Given the description of an element on the screen output the (x, y) to click on. 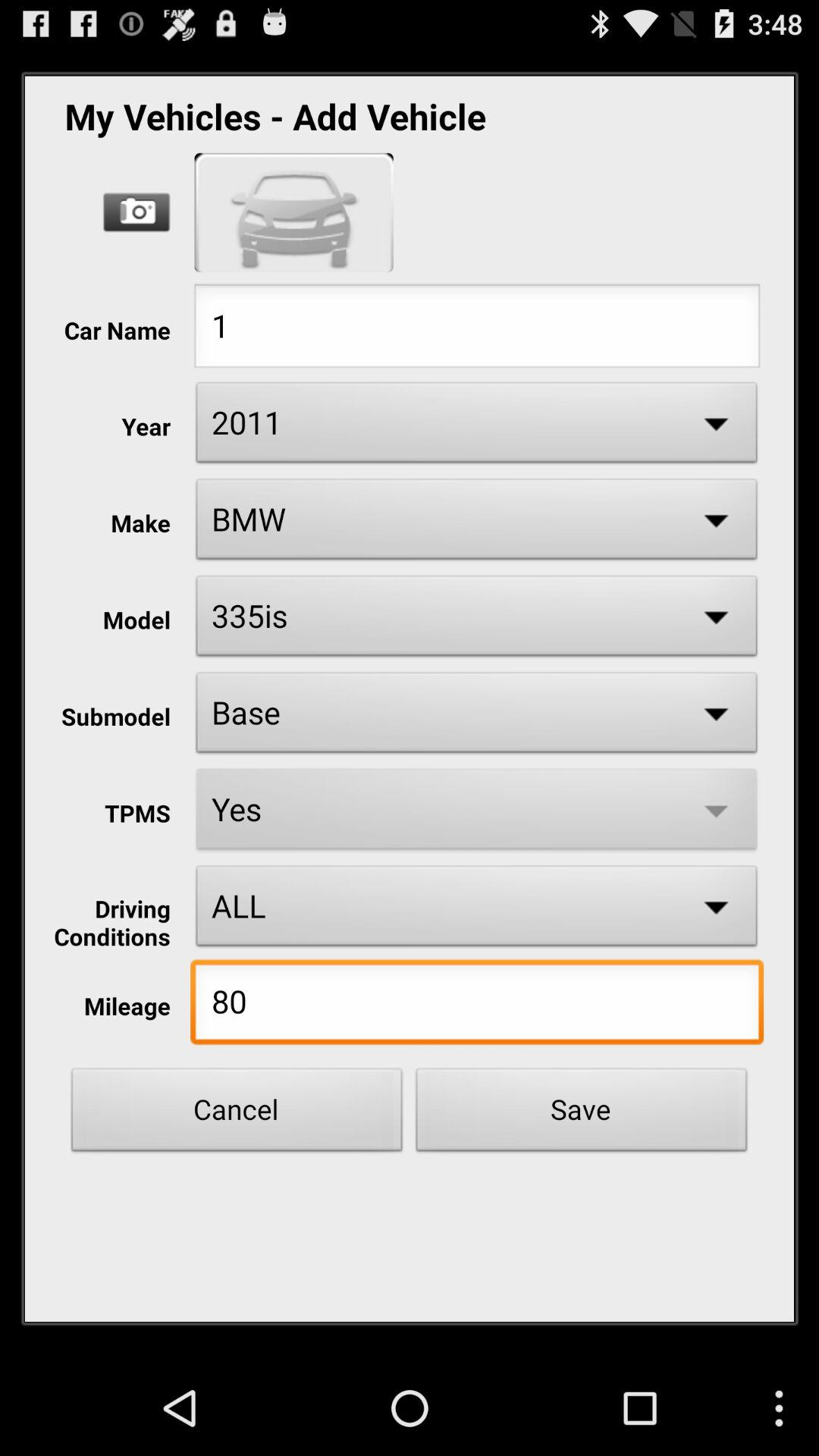
to add picture (136, 212)
